Given the description of an element on the screen output the (x, y) to click on. 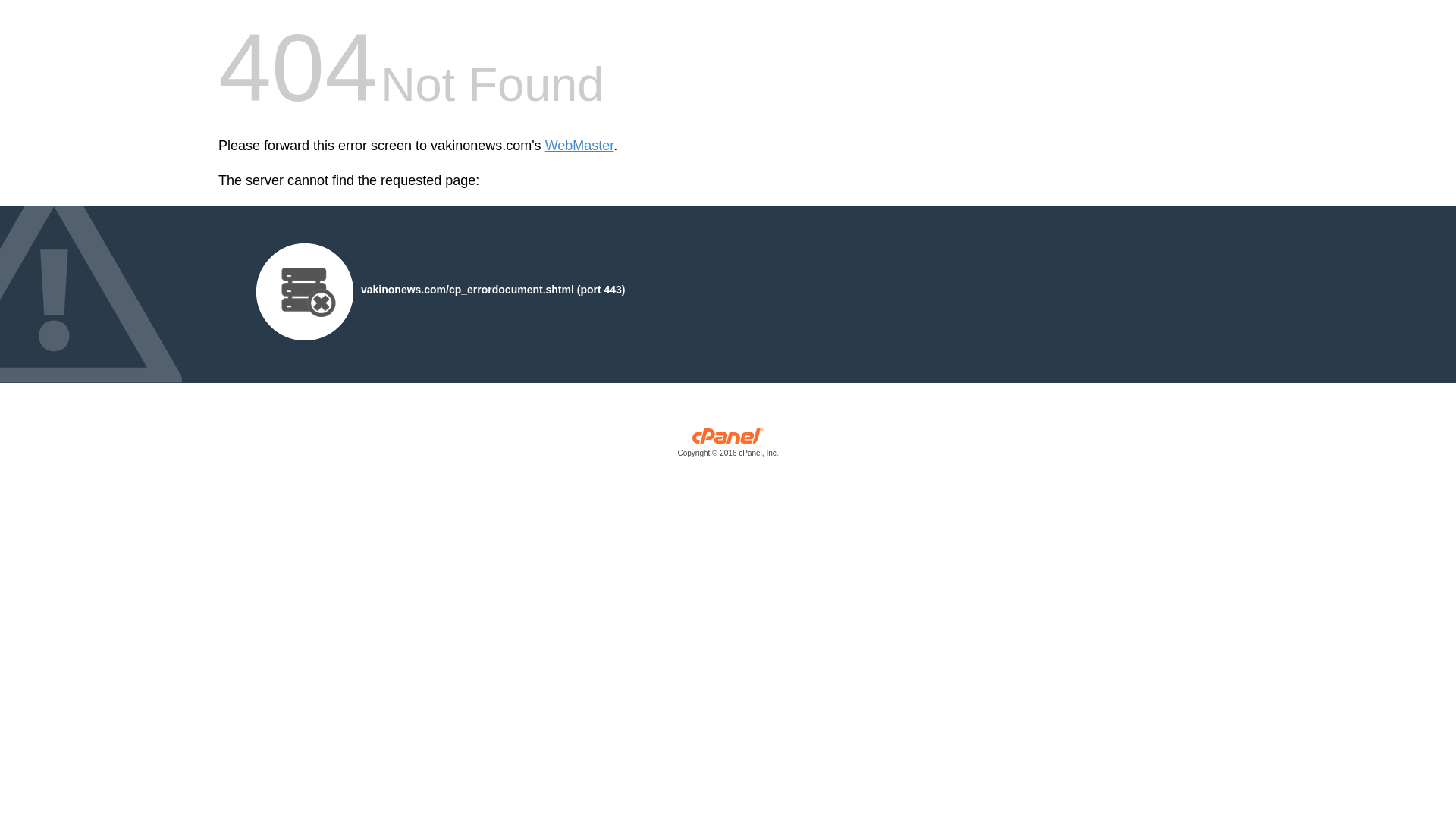
WebMaster (579, 145)
cPanel, Inc. (727, 446)
